Given the description of an element on the screen output the (x, y) to click on. 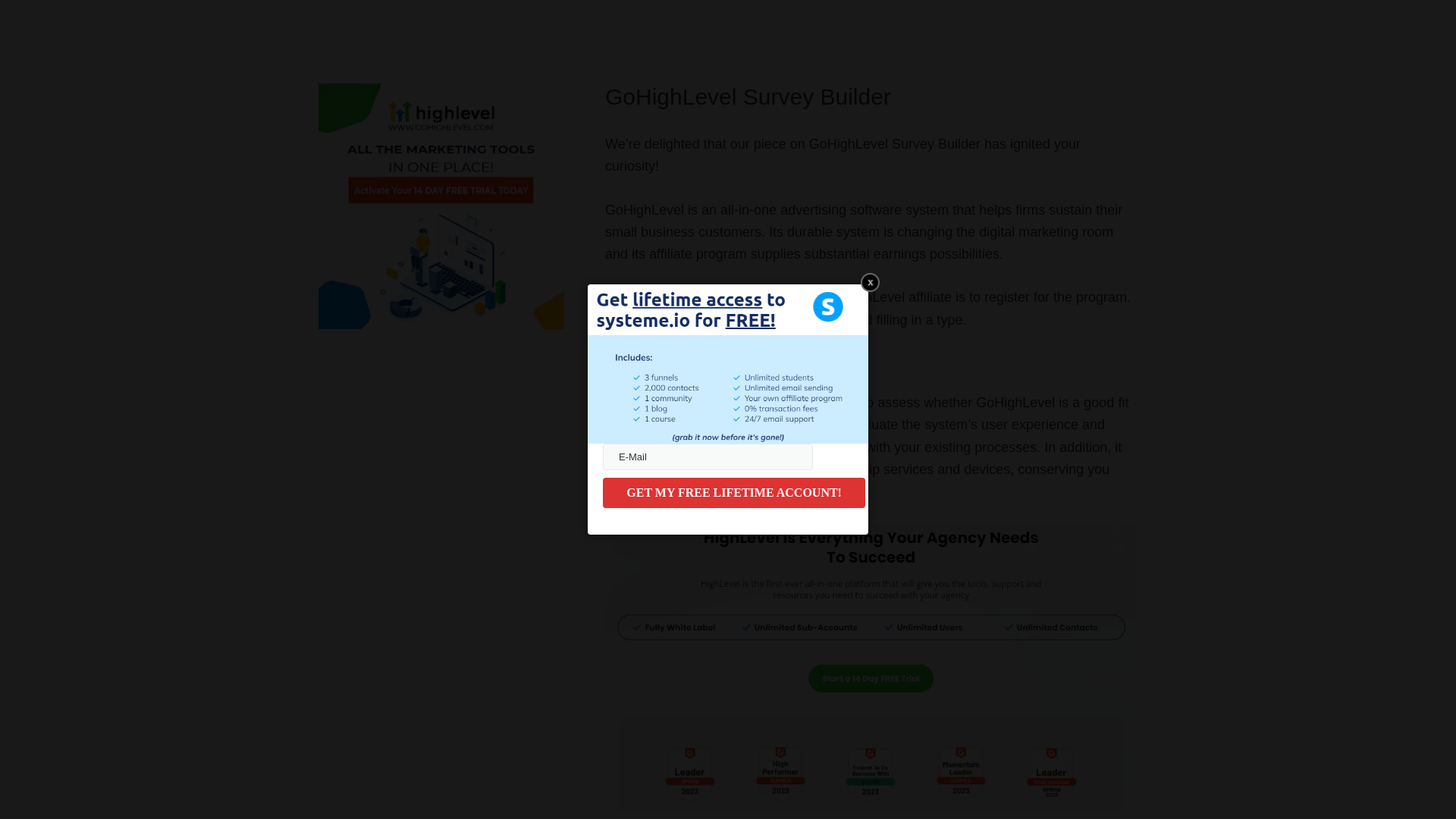
GET MY FREE LIFETIME ACCOUNT! (733, 492)
GET MY FREE LIFETIME ACCOUNT! (733, 492)
